Given the description of an element on the screen output the (x, y) to click on. 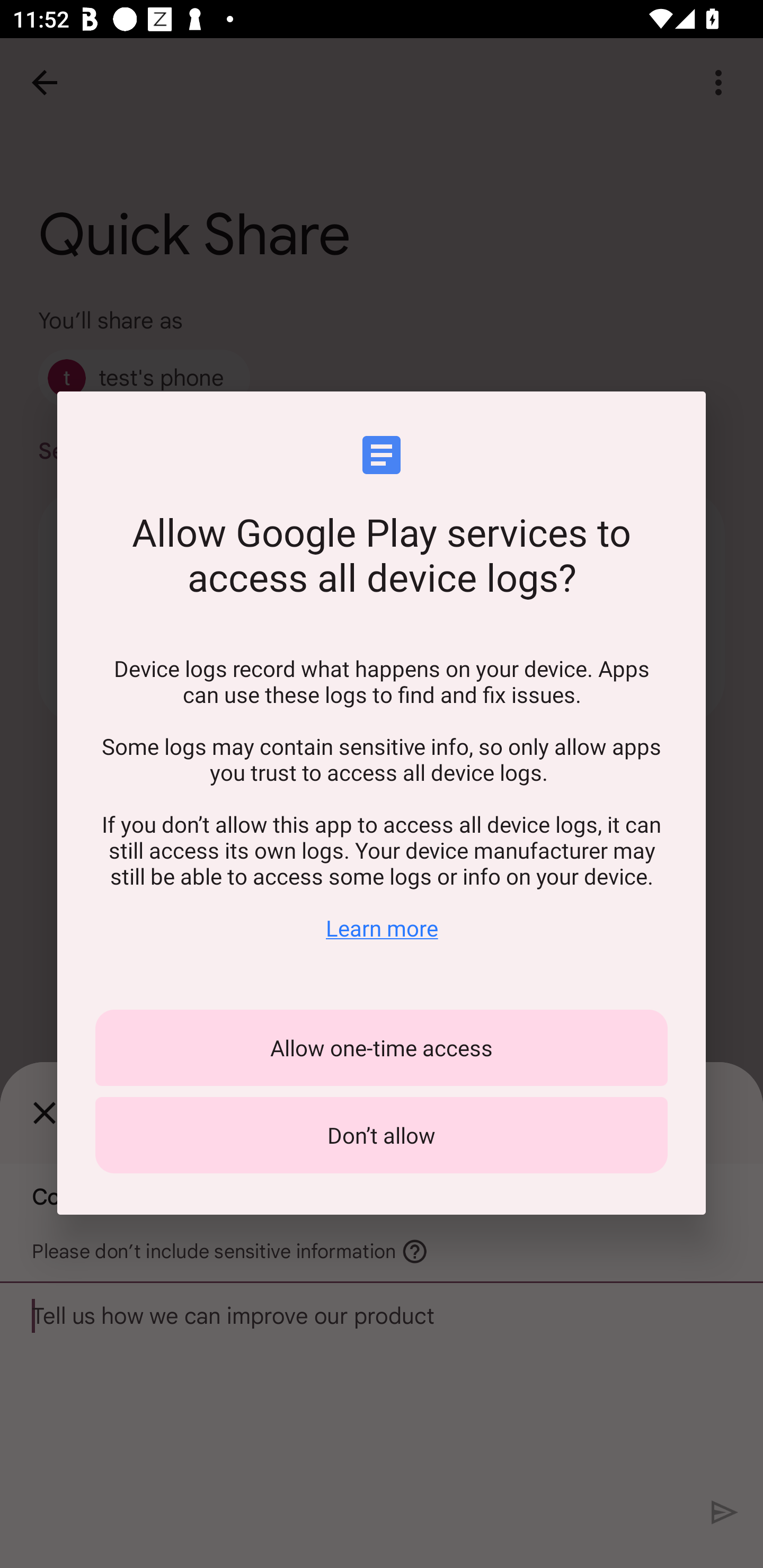
Allow one-time access (381, 1047)
Don’t allow (381, 1134)
